Given the description of an element on the screen output the (x, y) to click on. 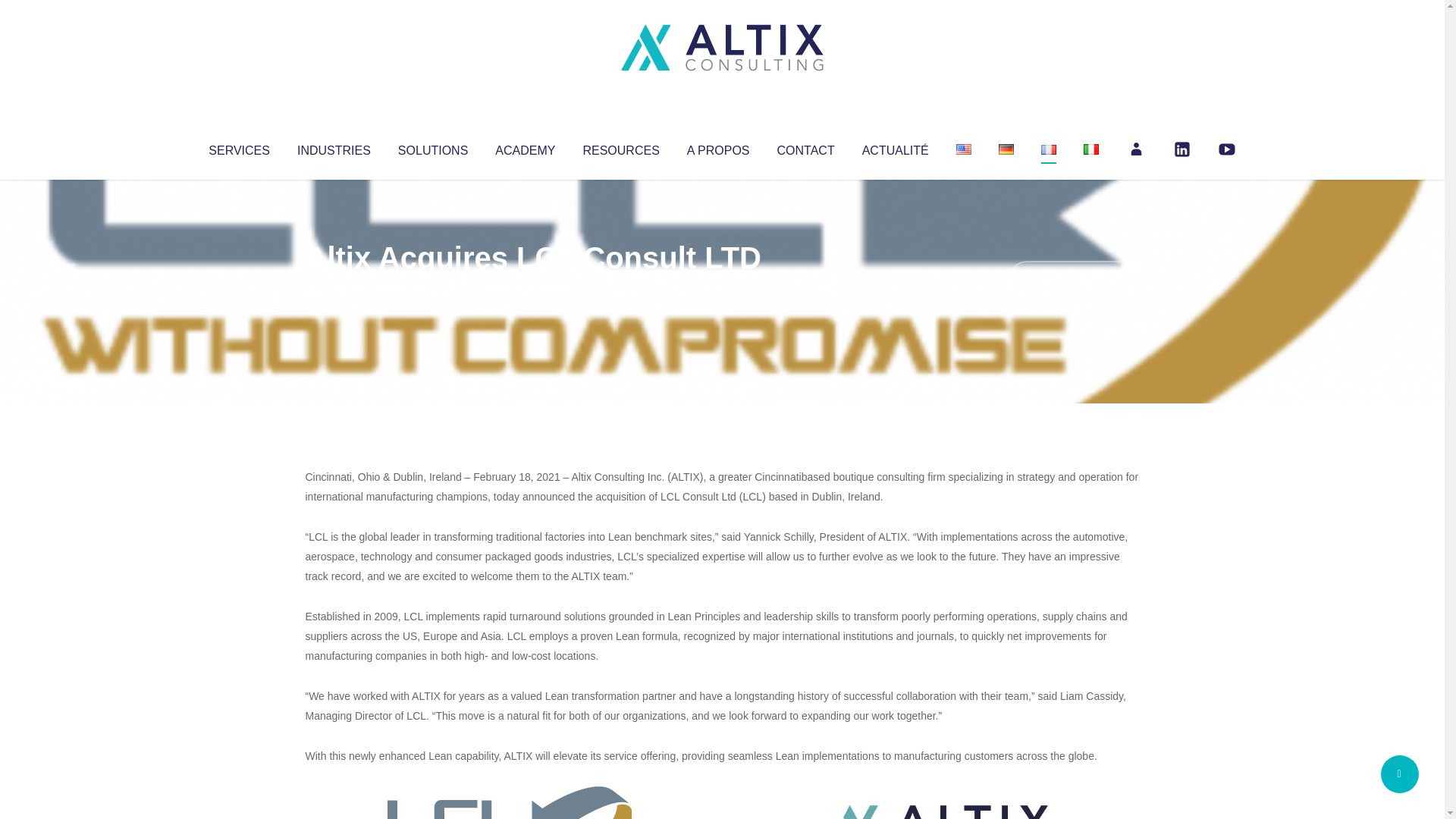
ACADEMY (524, 146)
No Comments (1073, 278)
A PROPOS (718, 146)
RESOURCES (620, 146)
SERVICES (238, 146)
INDUSTRIES (334, 146)
Articles par Altix (333, 287)
Altix (333, 287)
Uncategorized (530, 287)
SOLUTIONS (432, 146)
